Given the description of an element on the screen output the (x, y) to click on. 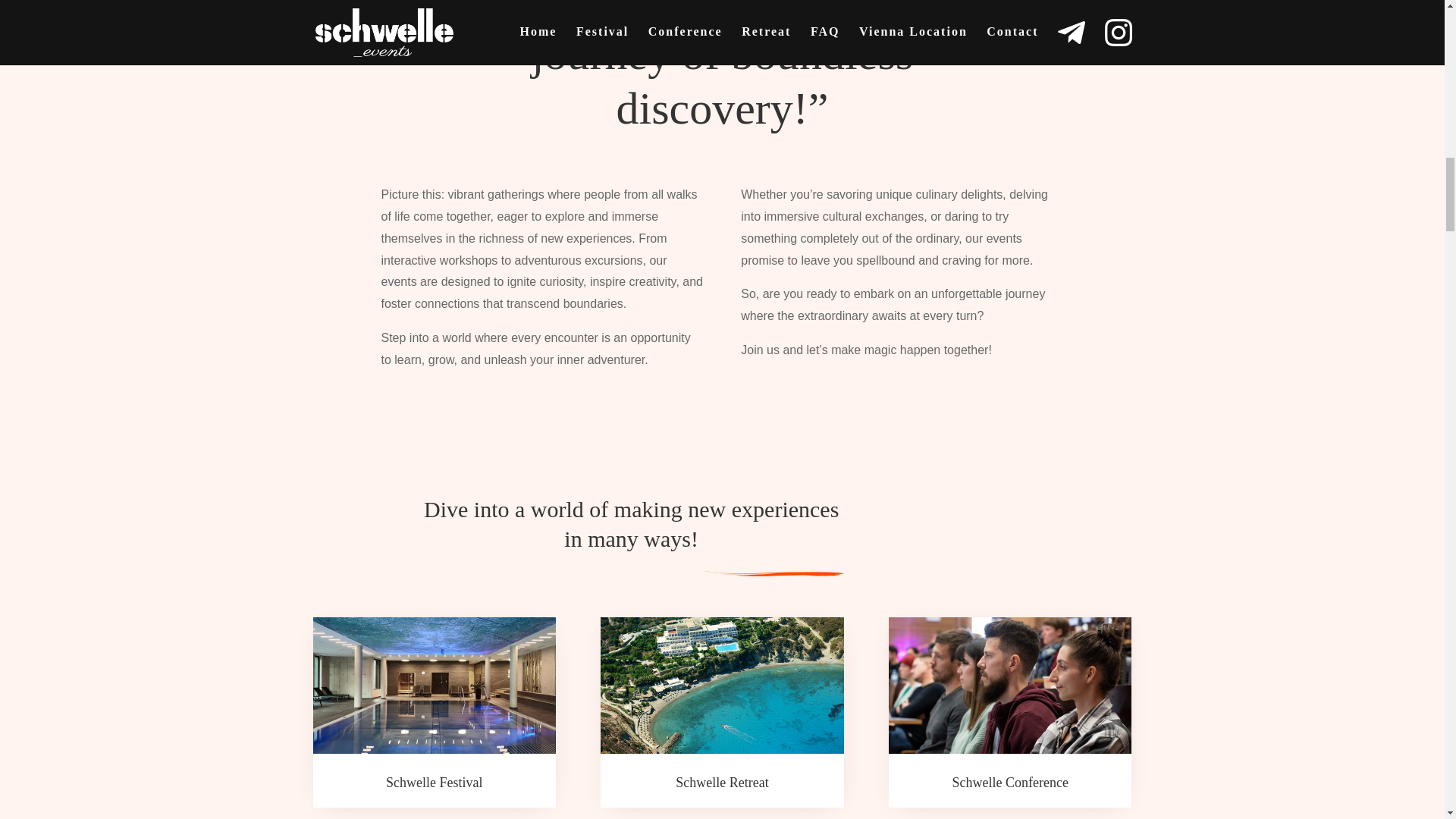
event-space-03 (770, 572)
waldhof-pool klein 1280 x 720 (433, 685)
conference klein 1280 x 720 (1009, 685)
